Given the description of an element on the screen output the (x, y) to click on. 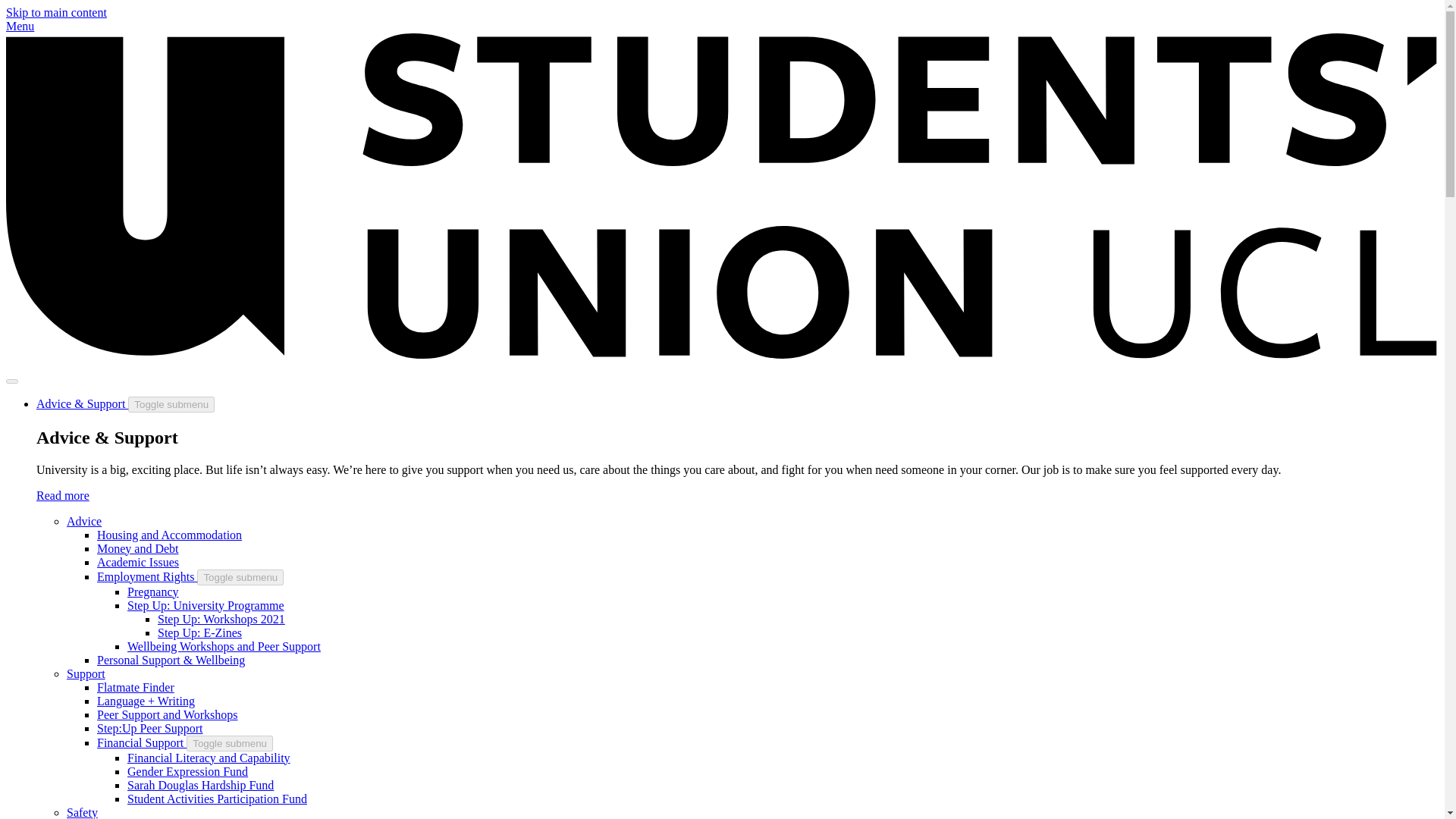
Toggle submenu (171, 404)
Step Up: University Programme (205, 604)
Support (85, 673)
Financial Support (141, 742)
Menu (19, 25)
Wellbeing Workshops and Peer Support (224, 645)
Financial Literacy and Capability (208, 757)
Academic Issues (138, 562)
Skip to main content (55, 11)
Toggle submenu (229, 743)
Employment Rights (146, 576)
Sarah Douglas Hardship Fund (200, 784)
Flatmate Finder (135, 686)
Advice (83, 521)
Pregnancy (153, 591)
